Given the description of an element on the screen output the (x, y) to click on. 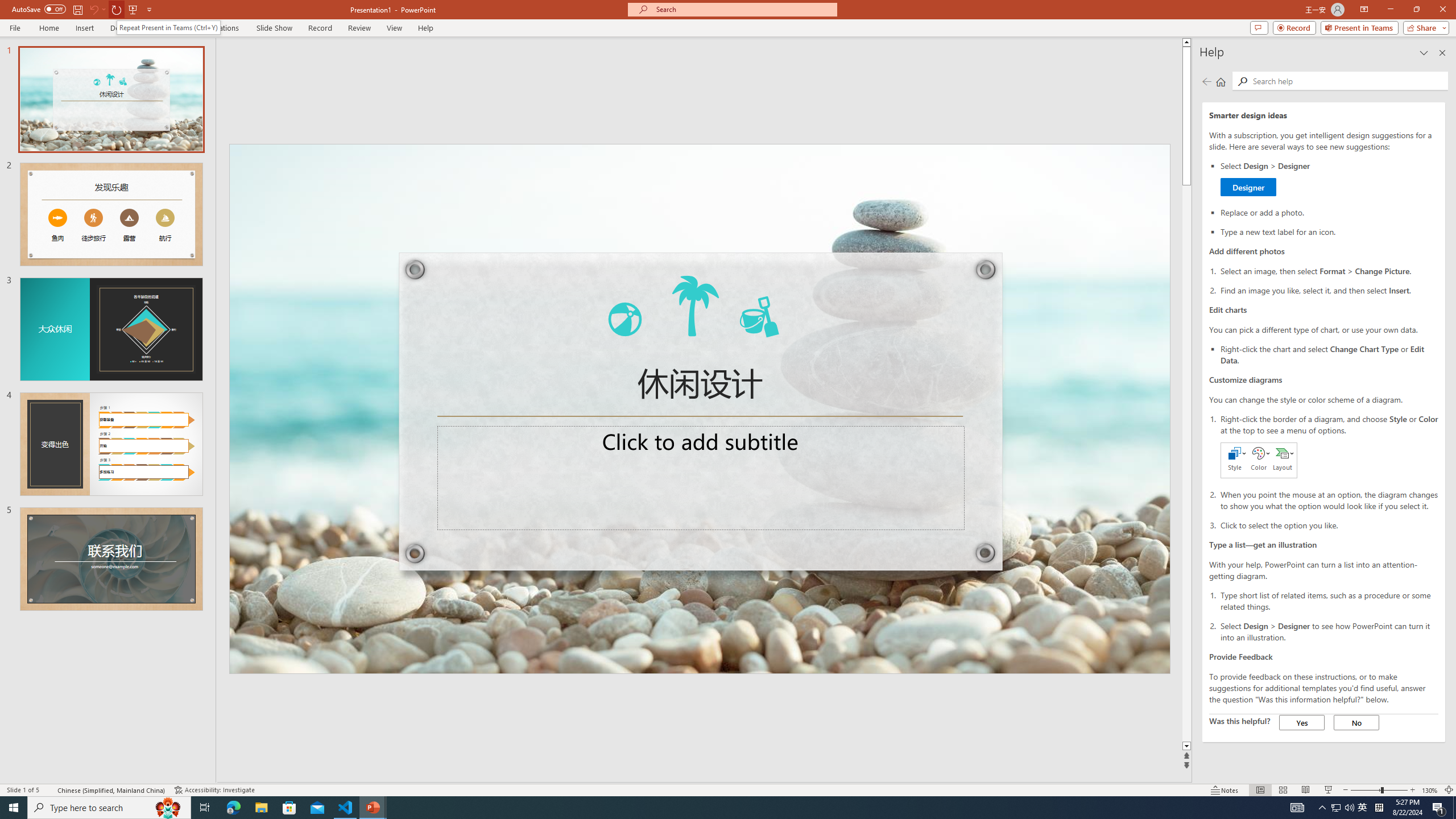
Type a new text label for an icon. (1329, 231)
Designer (1248, 186)
Replace or add a photo. (1329, 211)
Select an image, then select Format > Change Picture. (1329, 270)
